Given the description of an element on the screen output the (x, y) to click on. 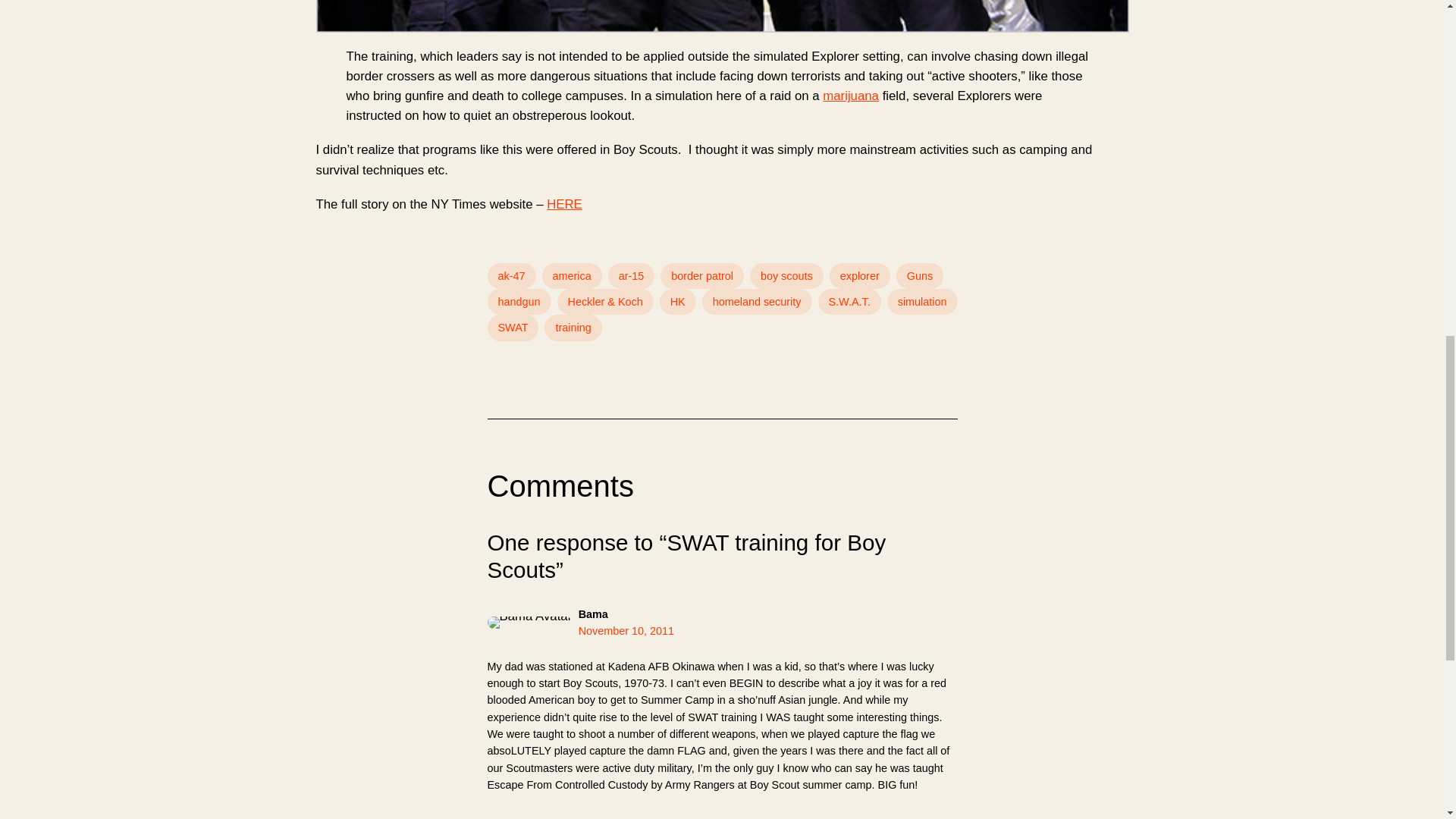
Guns (919, 275)
SWAT (512, 327)
HERE (564, 204)
border patrol (702, 275)
ar-15 (631, 275)
america (571, 275)
November 10, 2011 (626, 630)
handgun (518, 301)
S.W.A.T. (849, 301)
explorer (859, 275)
HK (677, 301)
Boy Scout SWAT training (564, 204)
marijuana (850, 95)
ak-47 (510, 275)
More articles about marijuana. (850, 95)
